Given the description of an element on the screen output the (x, y) to click on. 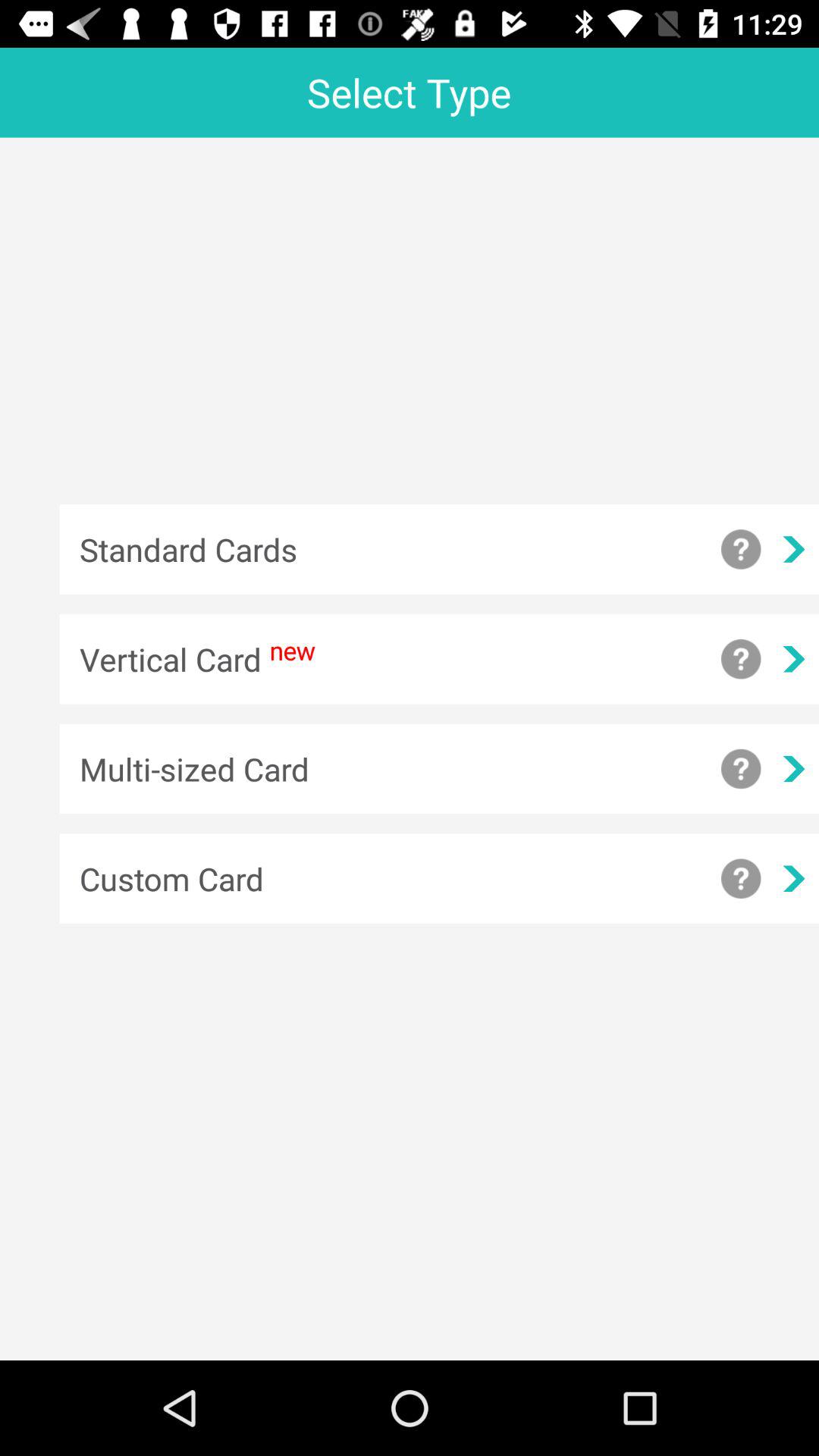
display standard cards information (740, 549)
